Given the description of an element on the screen output the (x, y) to click on. 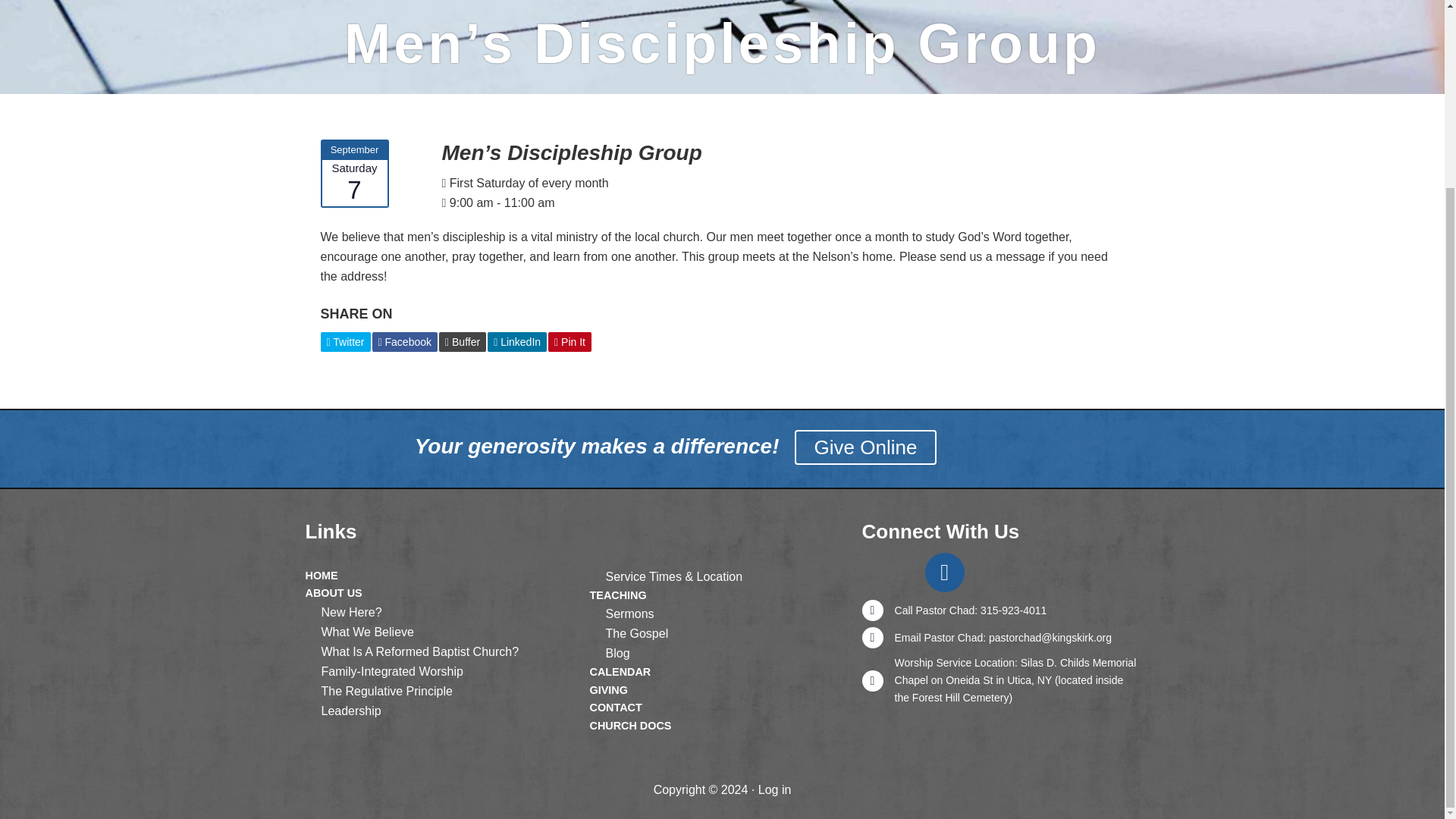
Facebook (404, 342)
Twitter (344, 342)
Pin It (569, 342)
Family-Integrated Worship (392, 671)
New Here? (351, 612)
Leadership (351, 710)
TEACHING (617, 594)
GIVING (608, 689)
The Regulative Principle (386, 690)
Buffer (462, 342)
Give Online (865, 447)
CALENDAR (619, 671)
Sermons (629, 613)
LinkedIn (517, 342)
HOME (320, 575)
